Given the description of an element on the screen output the (x, y) to click on. 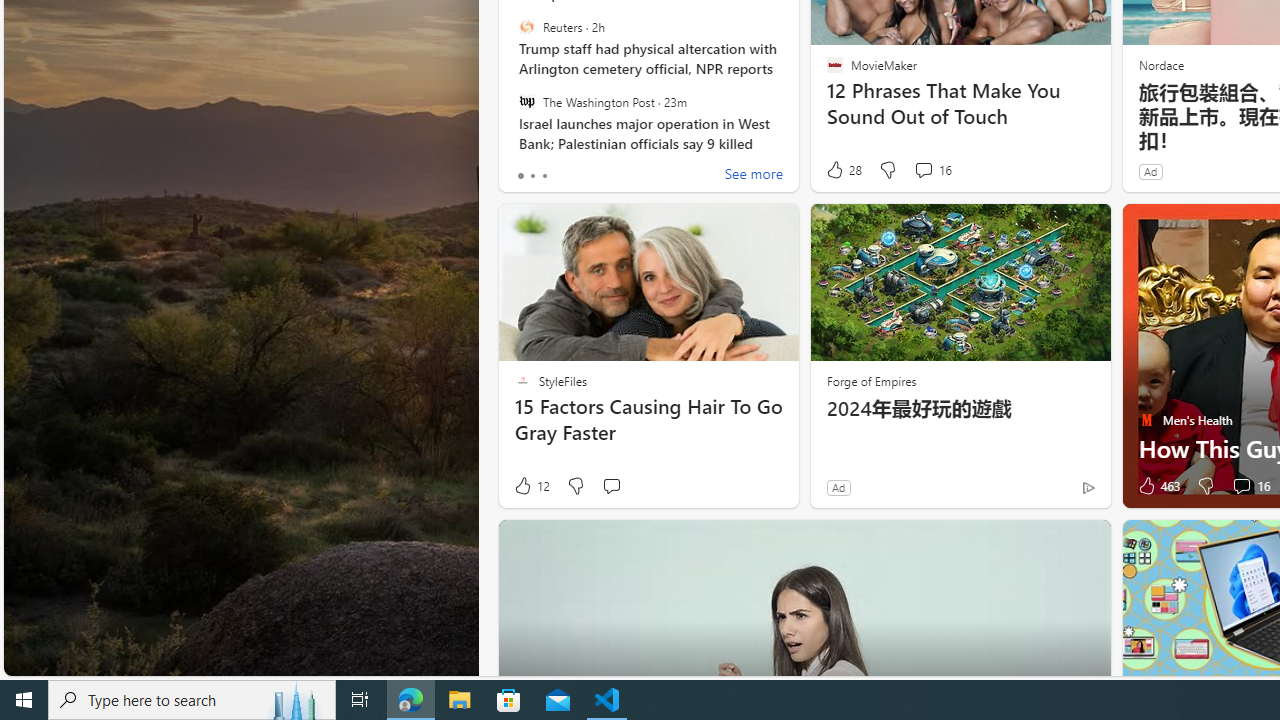
463 Like (1157, 485)
12 Like (531, 485)
28 Like (843, 170)
The Washington Post (526, 101)
Reuters (526, 27)
Forge of Empires (870, 380)
